Given the description of an element on the screen output the (x, y) to click on. 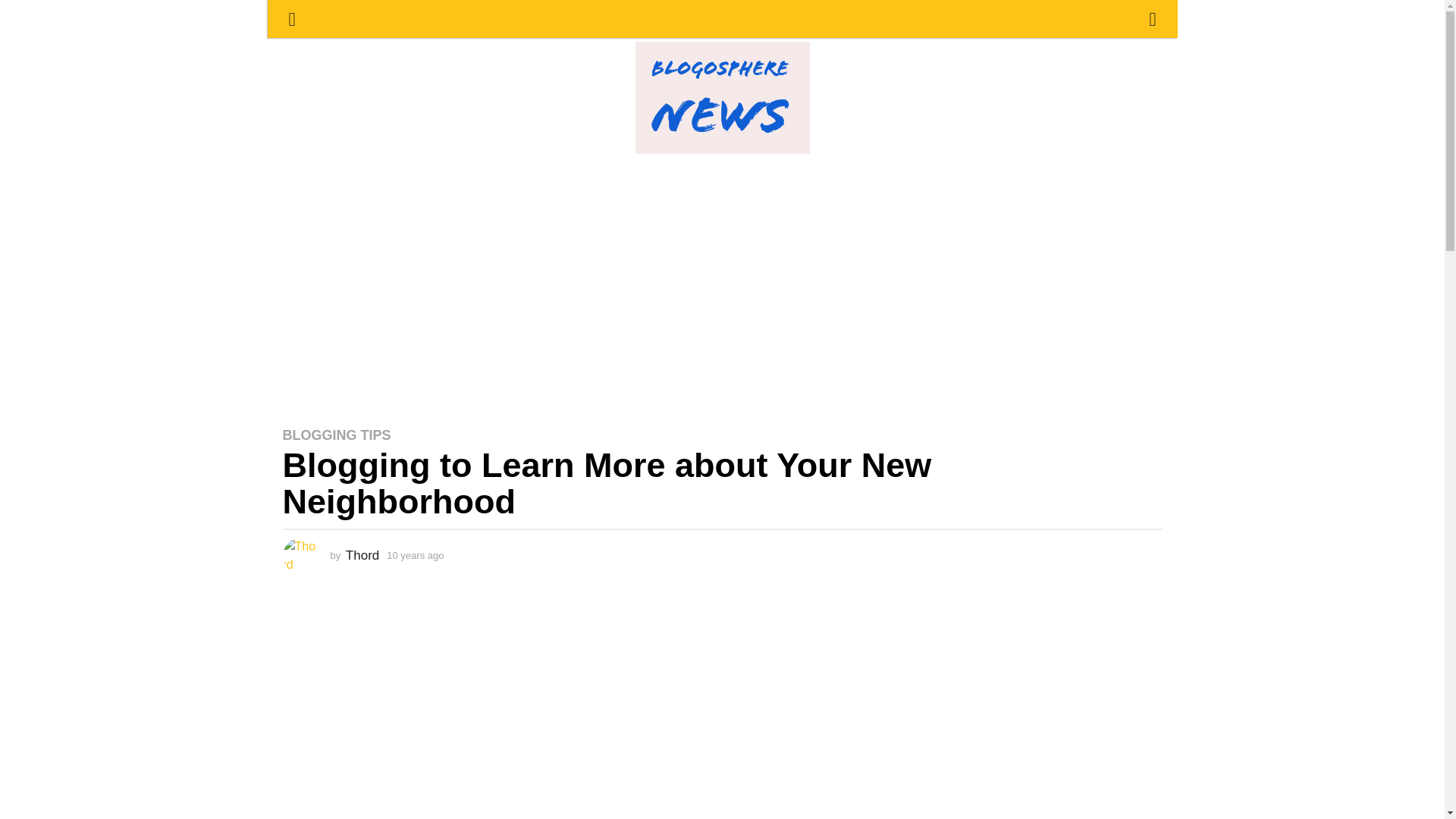
BLOGGING TIPS (336, 435)
Advertisement (721, 694)
Thord (362, 555)
